Given the description of an element on the screen output the (x, y) to click on. 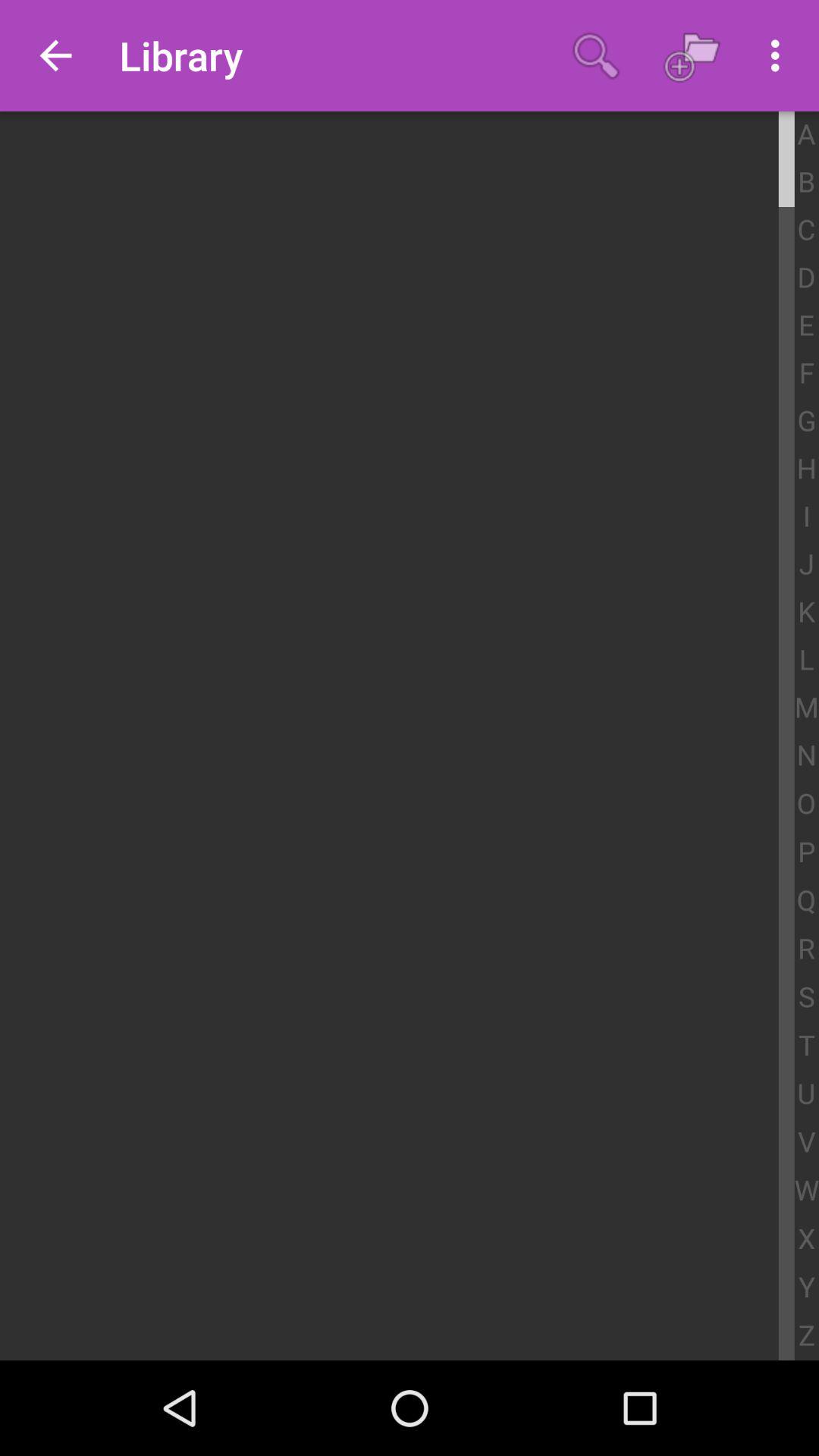
launch app above s app (806, 949)
